Given the description of an element on the screen output the (x, y) to click on. 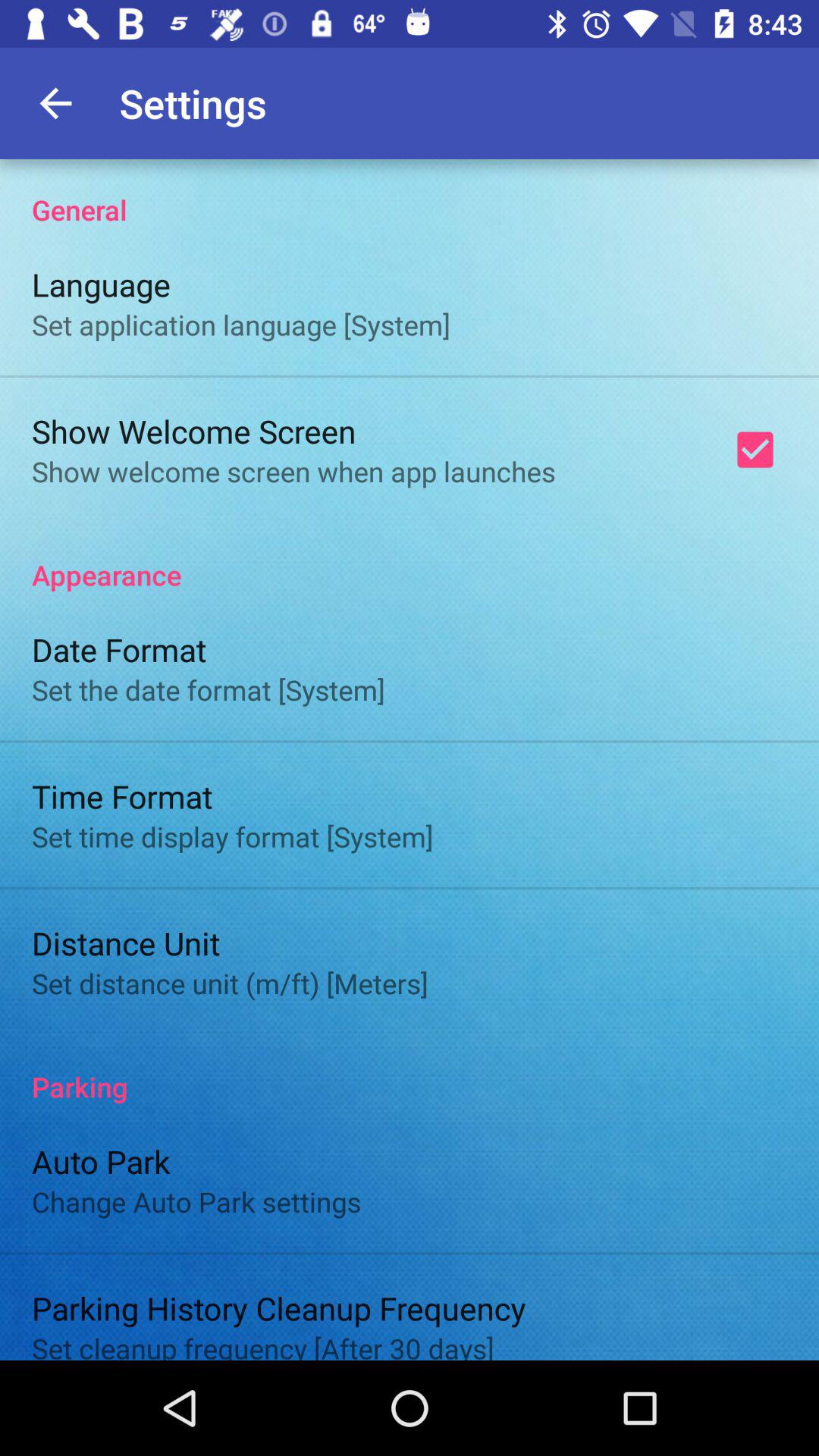
tap item above the distance unit item (232, 836)
